Given the description of an element on the screen output the (x, y) to click on. 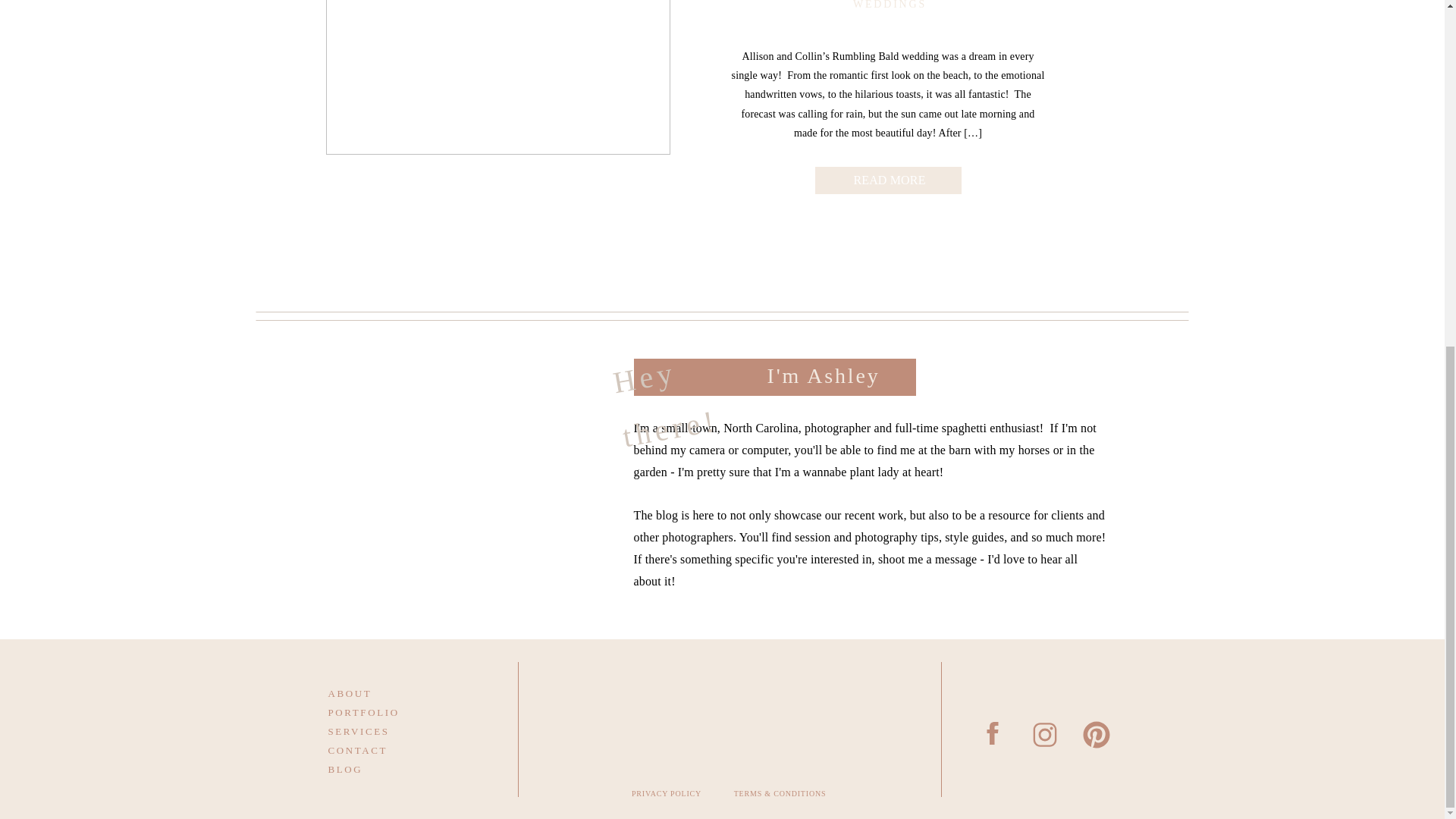
PRIVACY POLICY (666, 797)
WEDDINGS (889, 4)
SERVICES (384, 729)
CONTACT (384, 749)
READ MORE (888, 177)
PORTFOLIO (384, 711)
BLOG (384, 767)
ABOUT (384, 692)
